Given the description of an element on the screen output the (x, y) to click on. 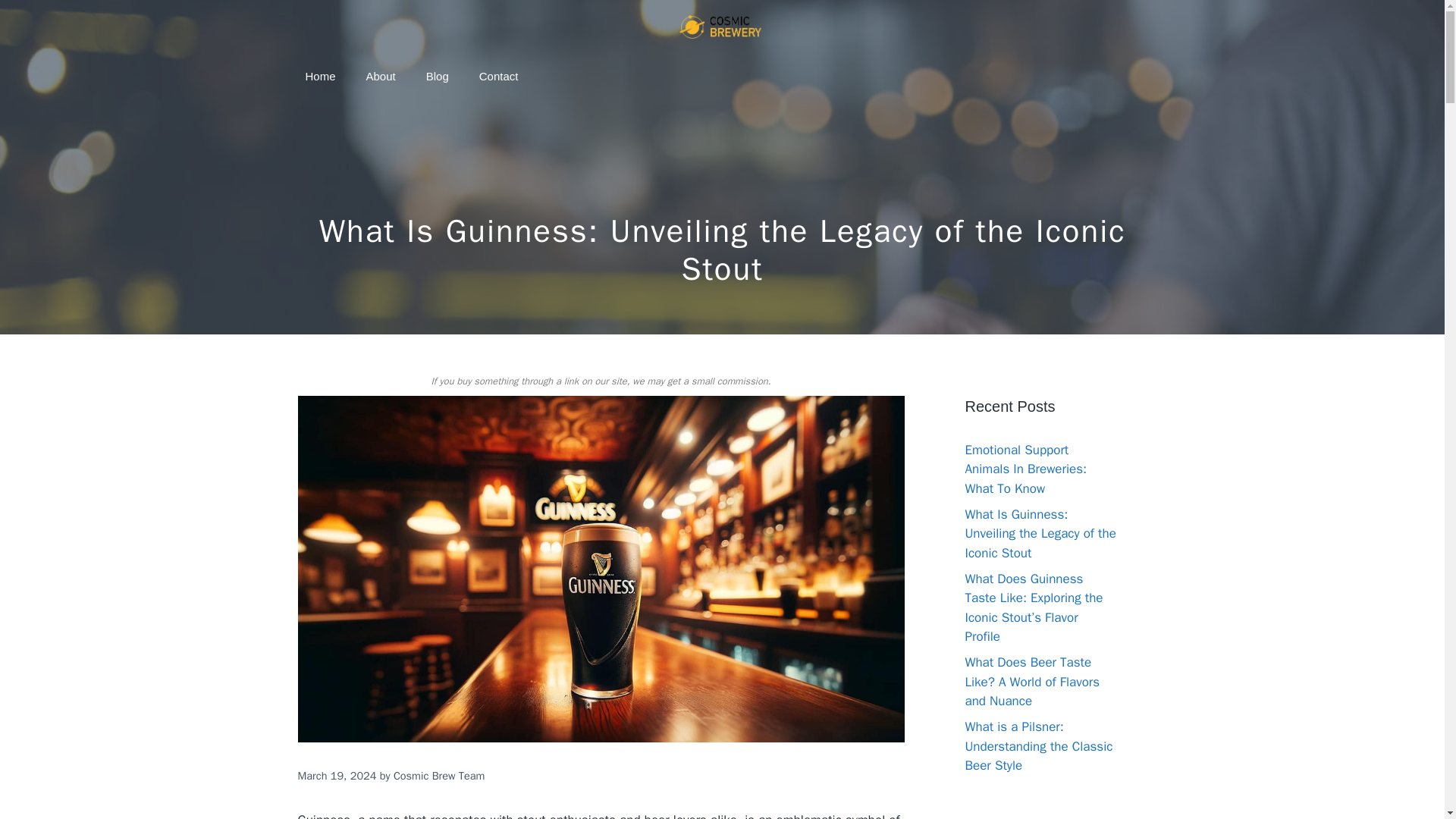
About (380, 76)
View all posts by Cosmic Brew Team (438, 775)
Contact (499, 76)
Home (319, 76)
Cosmic Brew Team (438, 775)
Blog (437, 76)
